Given the description of an element on the screen output the (x, y) to click on. 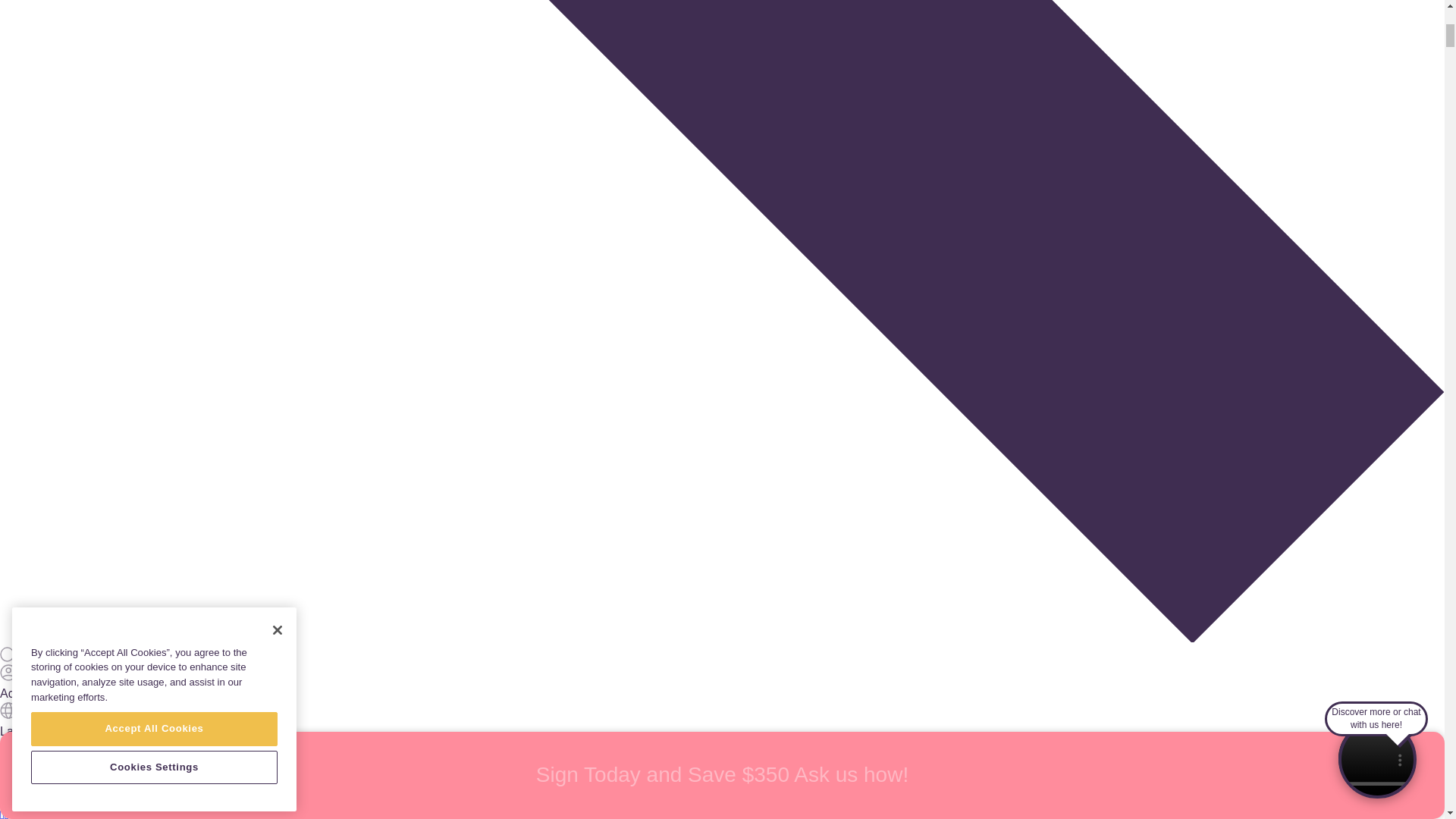
Search (722, 655)
